Given the description of an element on the screen output the (x, y) to click on. 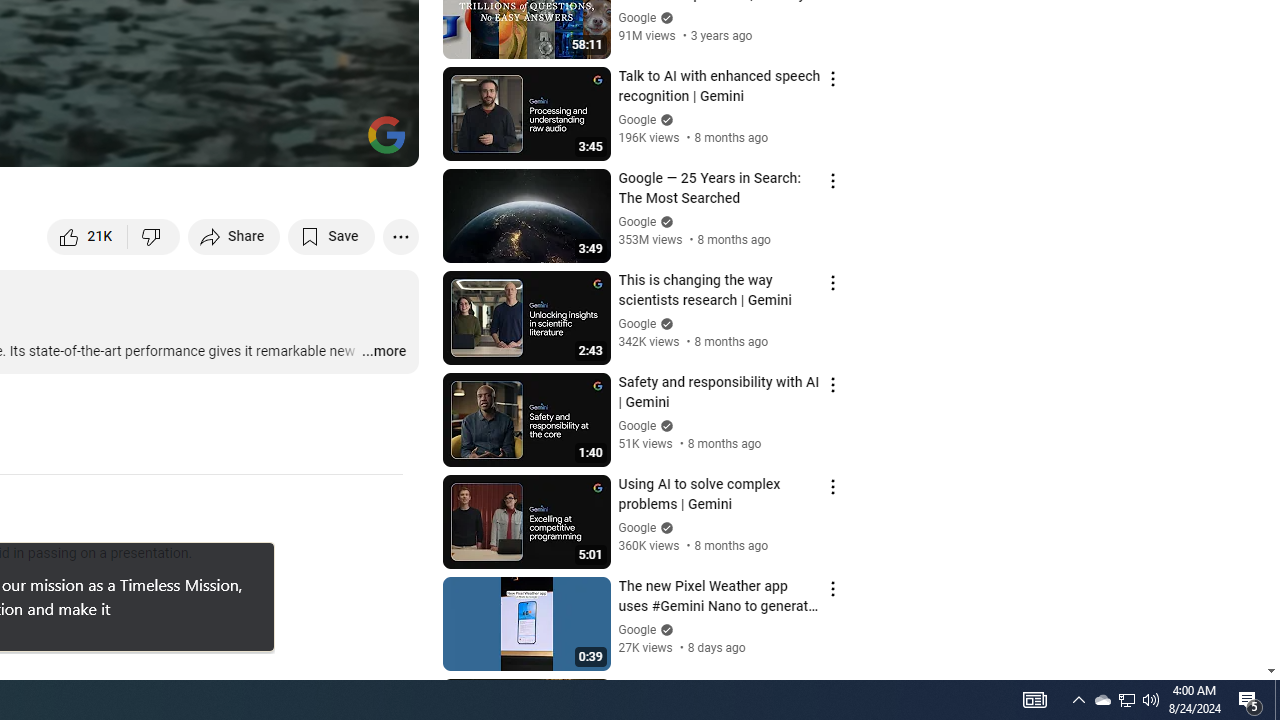
Save to playlist (331, 236)
Share (234, 236)
Theater mode (t) (333, 142)
Full screen (f) (382, 142)
Channel watermark (386, 134)
Subtitles/closed captions unavailable (190, 142)
